Given the description of an element on the screen output the (x, y) to click on. 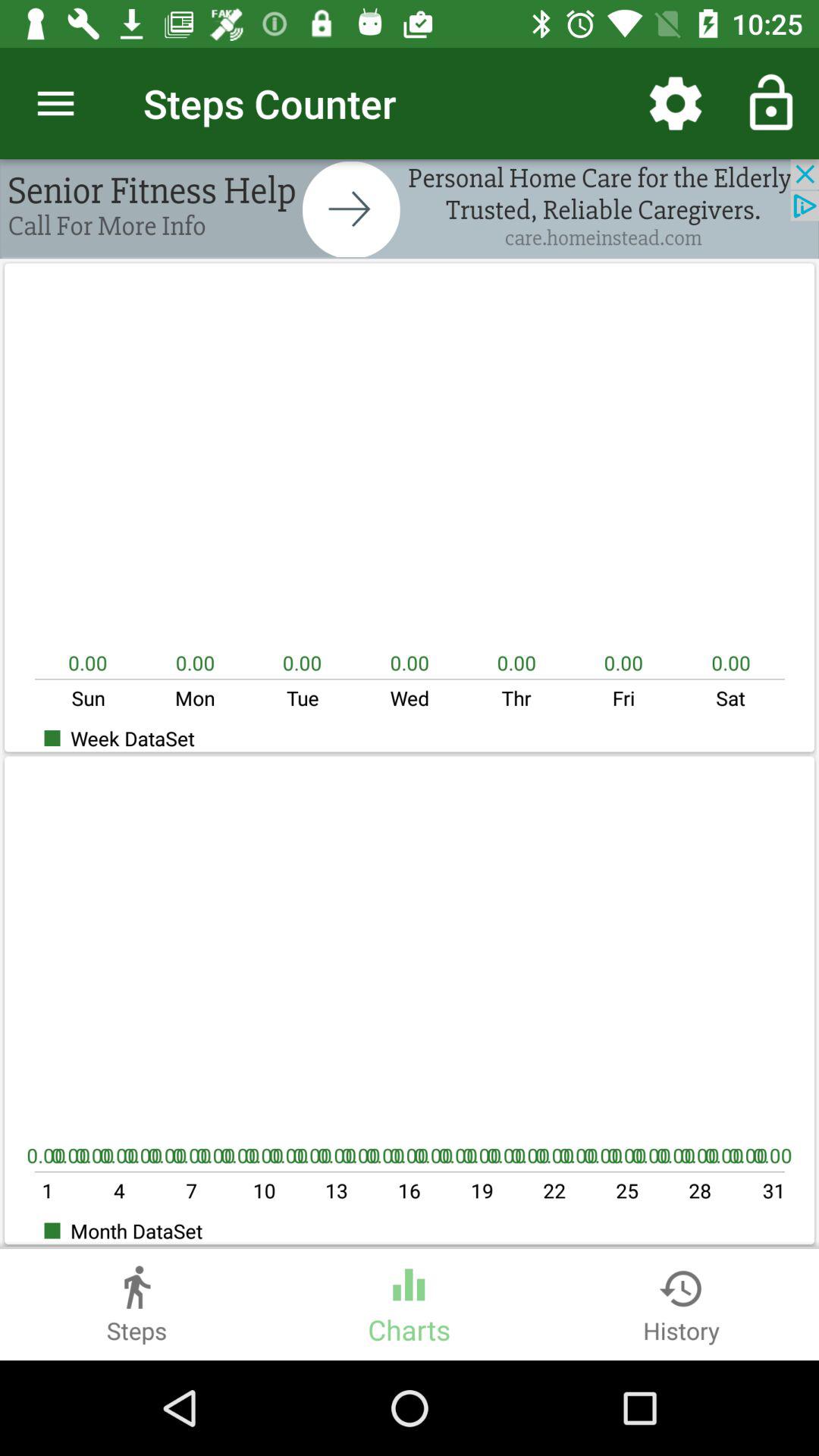
advatisment (409, 208)
